Given the description of an element on the screen output the (x, y) to click on. 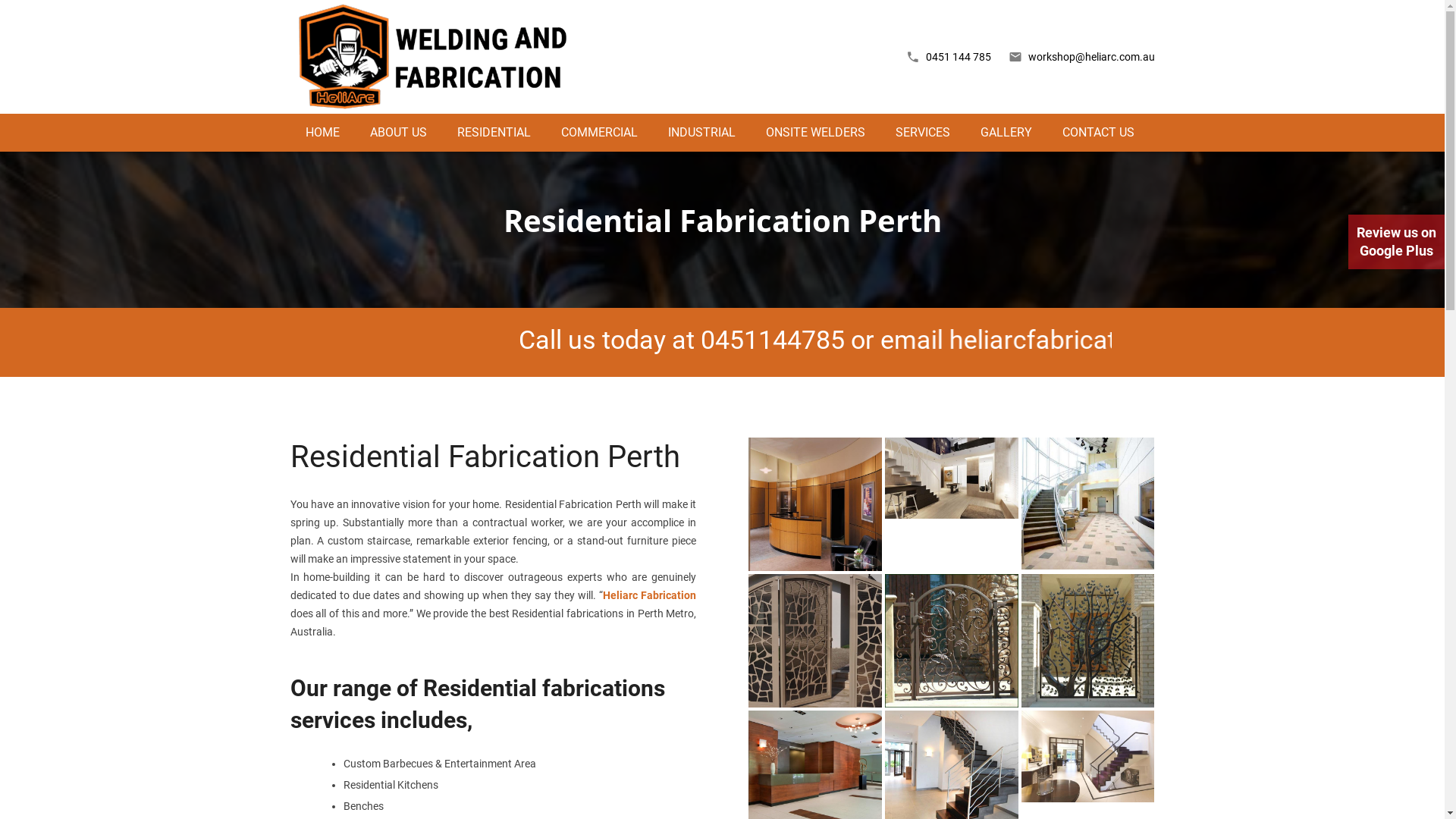
Open-plan-staircase-design Element type: hover (951, 478)
gate welding Element type: hover (951, 640)
ABOUT US Element type: text (398, 132)
0451 144 785 Element type: text (957, 56)
ONSITE WELDERS Element type: text (815, 132)
workshop@heliarc.com.au Element type: text (1091, 56)
Heliarc Fabrication Element type: text (649, 595)
gate design welding Element type: hover (1087, 640)
steel welding repair Element type: hover (814, 504)
RESIDENTIAL Element type: text (493, 132)
SERVICES Element type: text (921, 132)
CONTACT US Element type: text (1097, 132)
INDUSTRIAL Element type: text (700, 132)
GALLERY Element type: text (1005, 132)
staircase grills welding Element type: hover (1087, 503)
CNC-Laser-Cut-Gate Element type: hover (814, 640)
HOME Element type: text (321, 132)
COMMERCIAL Element type: text (599, 132)
Review us on
Google Plus Element type: text (1396, 241)
staircase-designs perth Element type: hover (1087, 756)
